Given the description of an element on the screen output the (x, y) to click on. 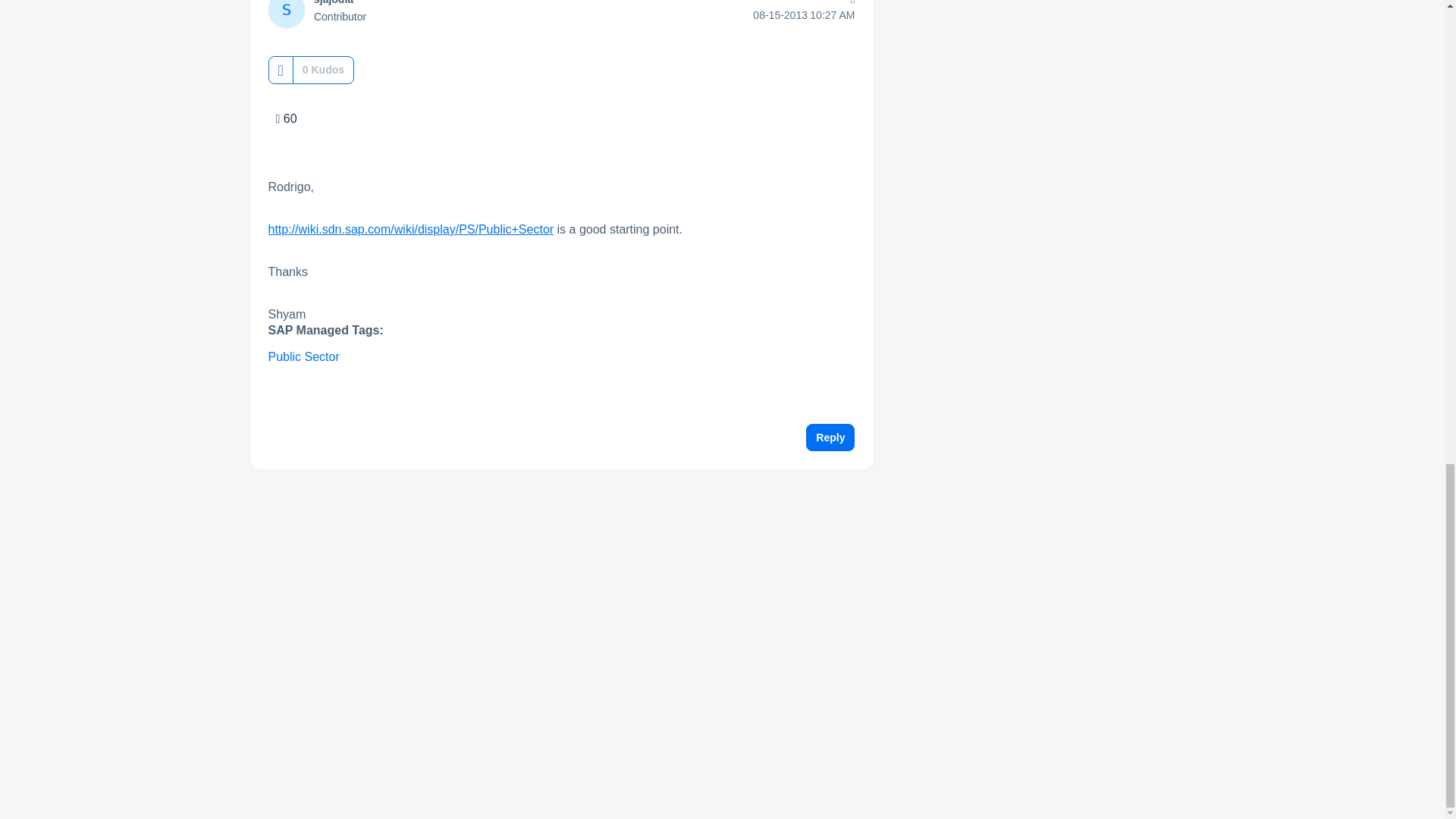
sjajodia (333, 2)
Options (850, 4)
Public Sector (303, 356)
